Given the description of an element on the screen output the (x, y) to click on. 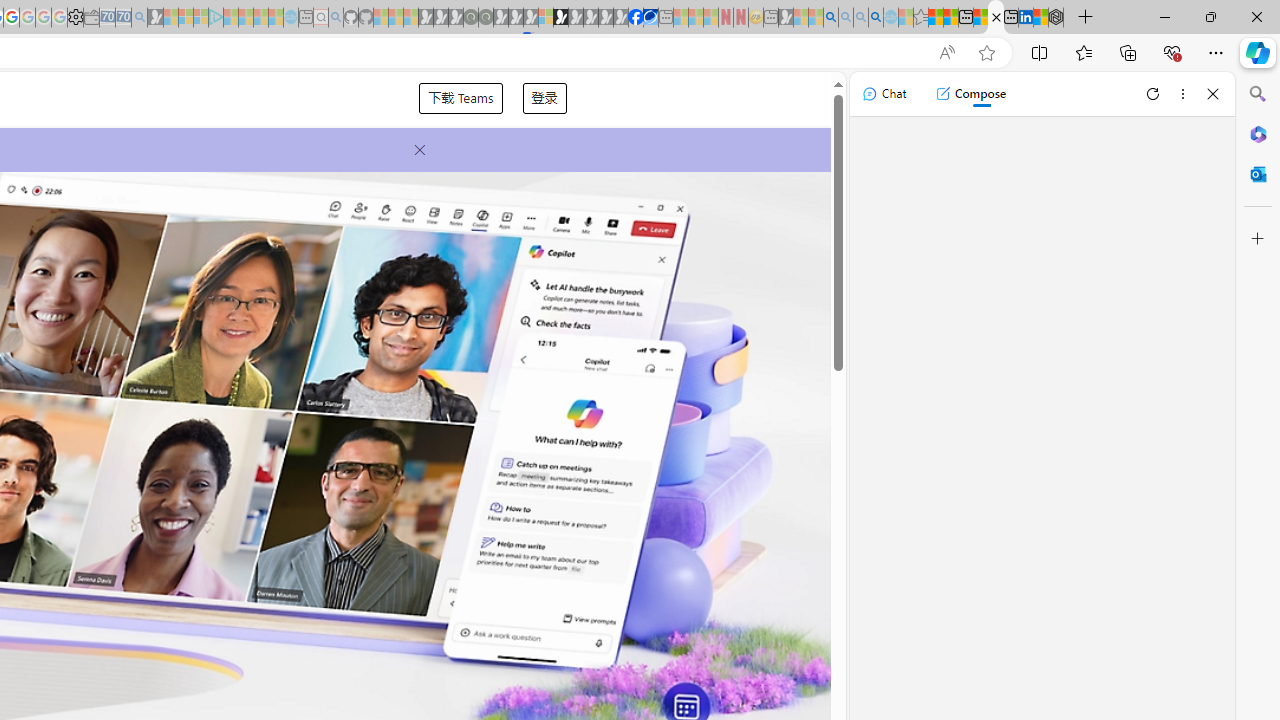
Aberdeen, Hong Kong SAR weather forecast | Microsoft Weather (950, 17)
